Given the description of an element on the screen output the (x, y) to click on. 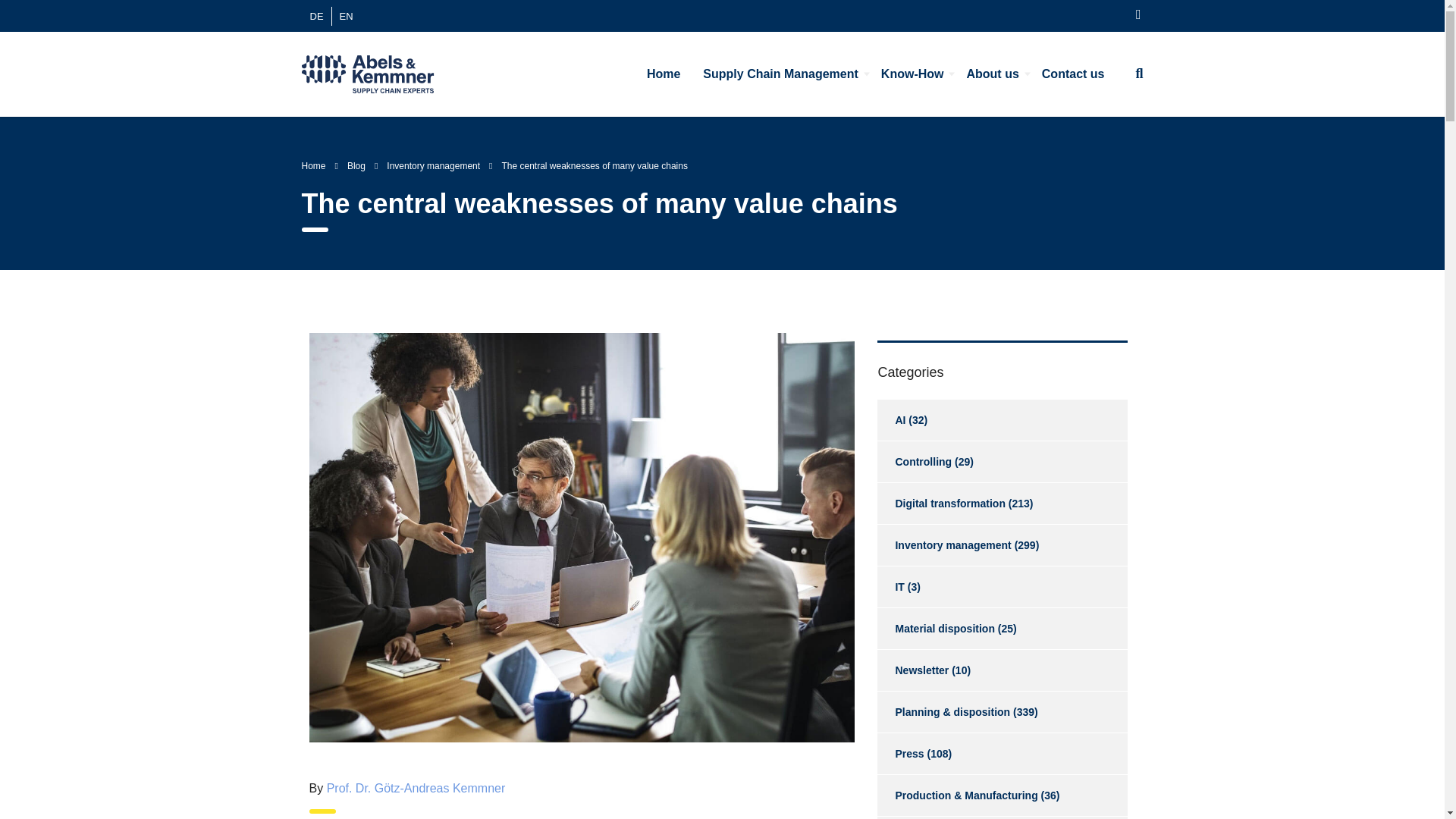
Home (662, 74)
EN (346, 15)
Go to the Inventory management category archives. (433, 165)
DE (315, 15)
Supply Chain Management (780, 74)
Go to Blog. (356, 165)
About us (992, 74)
Know-How (912, 74)
